Given the description of an element on the screen output the (x, y) to click on. 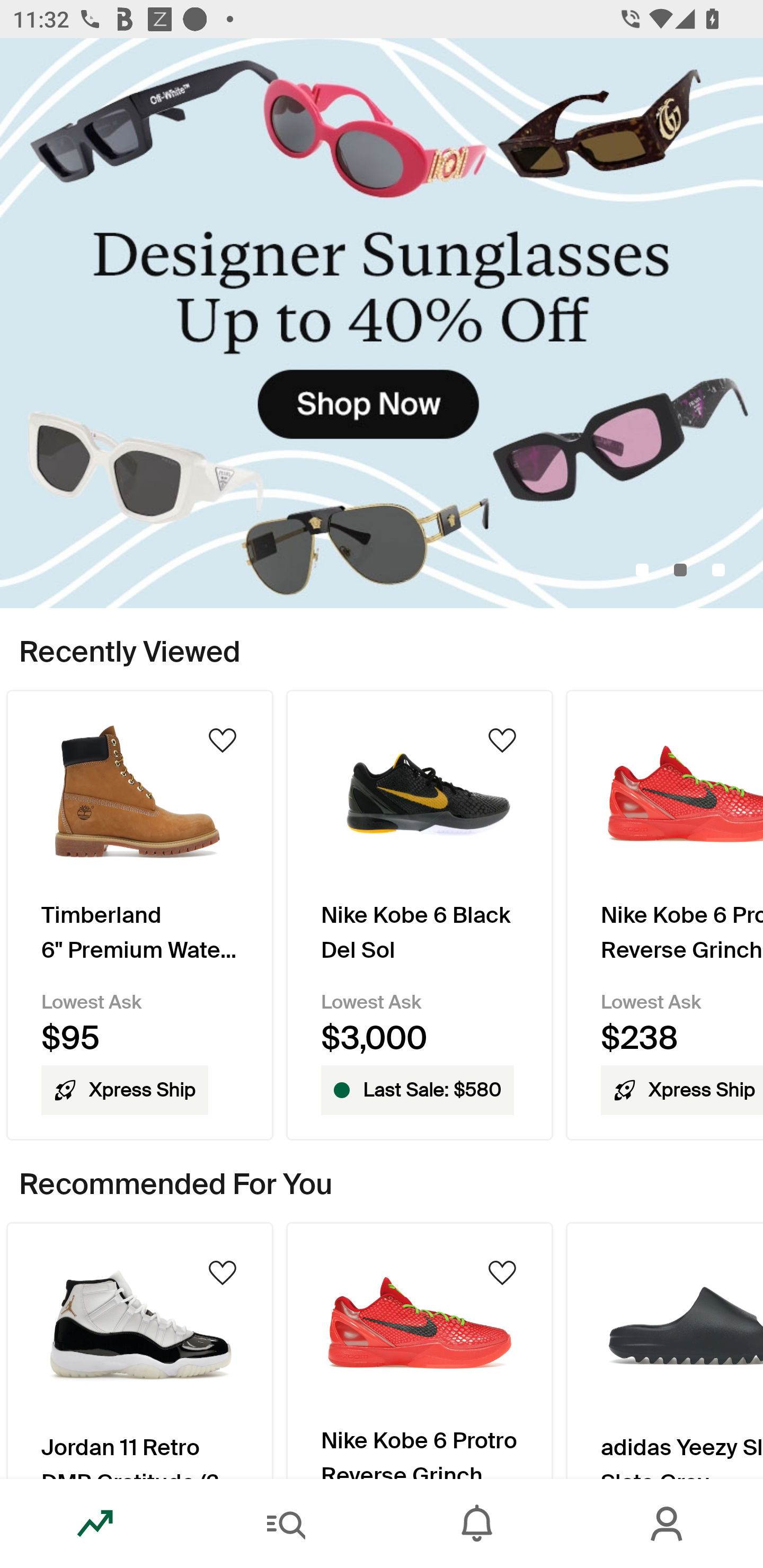
DesignerSunglassesUpto40_Off_Primary_Mobile.jpg (381, 322)
Product Image Jordan 11 Retro DMP Gratitude (2023) (139, 1349)
Product Image Nike Kobe 6 Protro Reverse Grinch (419, 1349)
Product Image adidas Yeezy Slide Slate Grey (664, 1349)
Search (285, 1523)
Inbox (476, 1523)
Account (667, 1523)
